Given the description of an element on the screen output the (x, y) to click on. 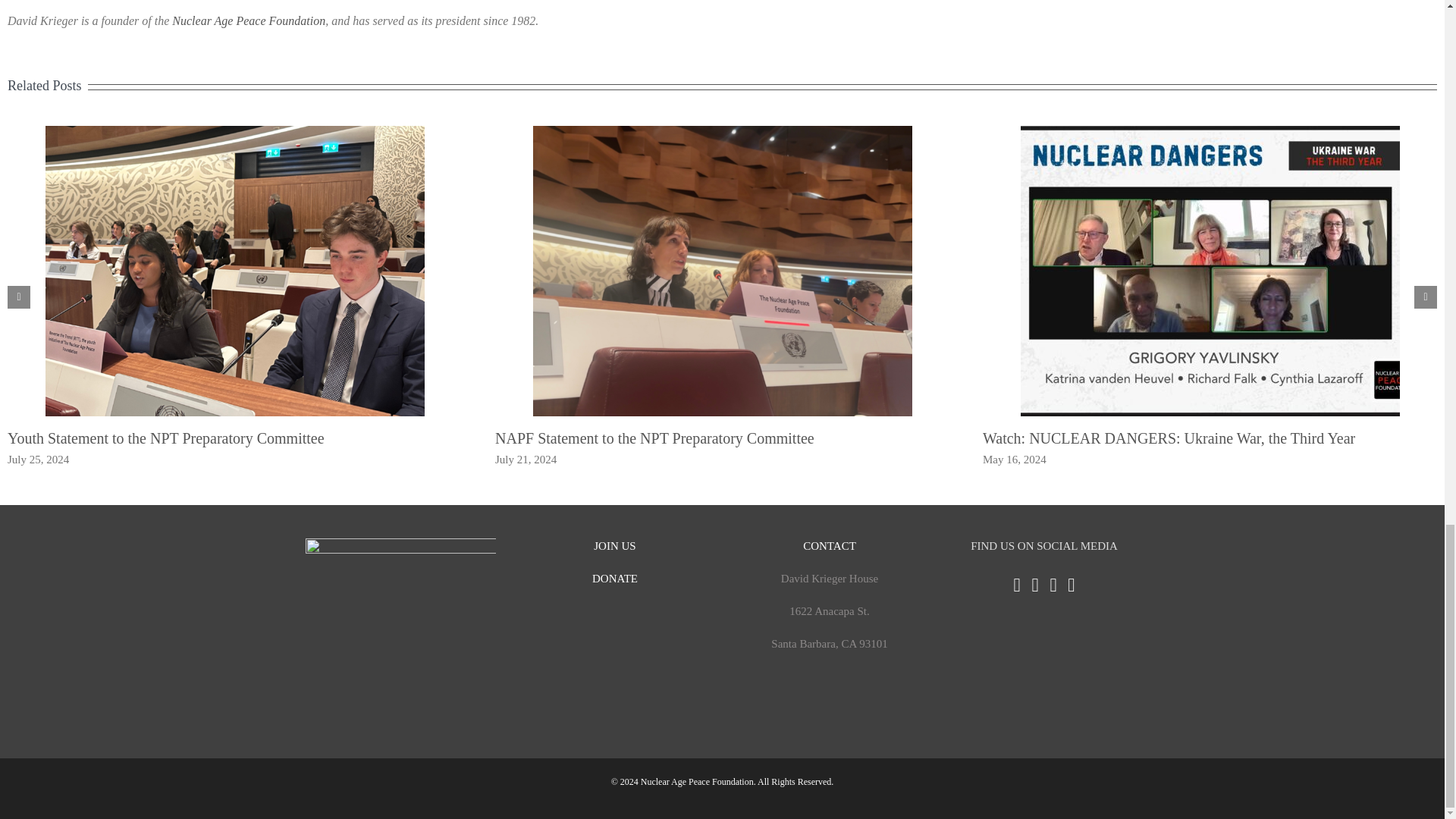
Youth Statement to the NPT Preparatory Committee (165, 437)
Watch: NUCLEAR DANGERS: Ukraine War, the Third Year (1168, 437)
NAPF Statement to the NPT Preparatory Committee (654, 437)
